Given the description of an element on the screen output the (x, y) to click on. 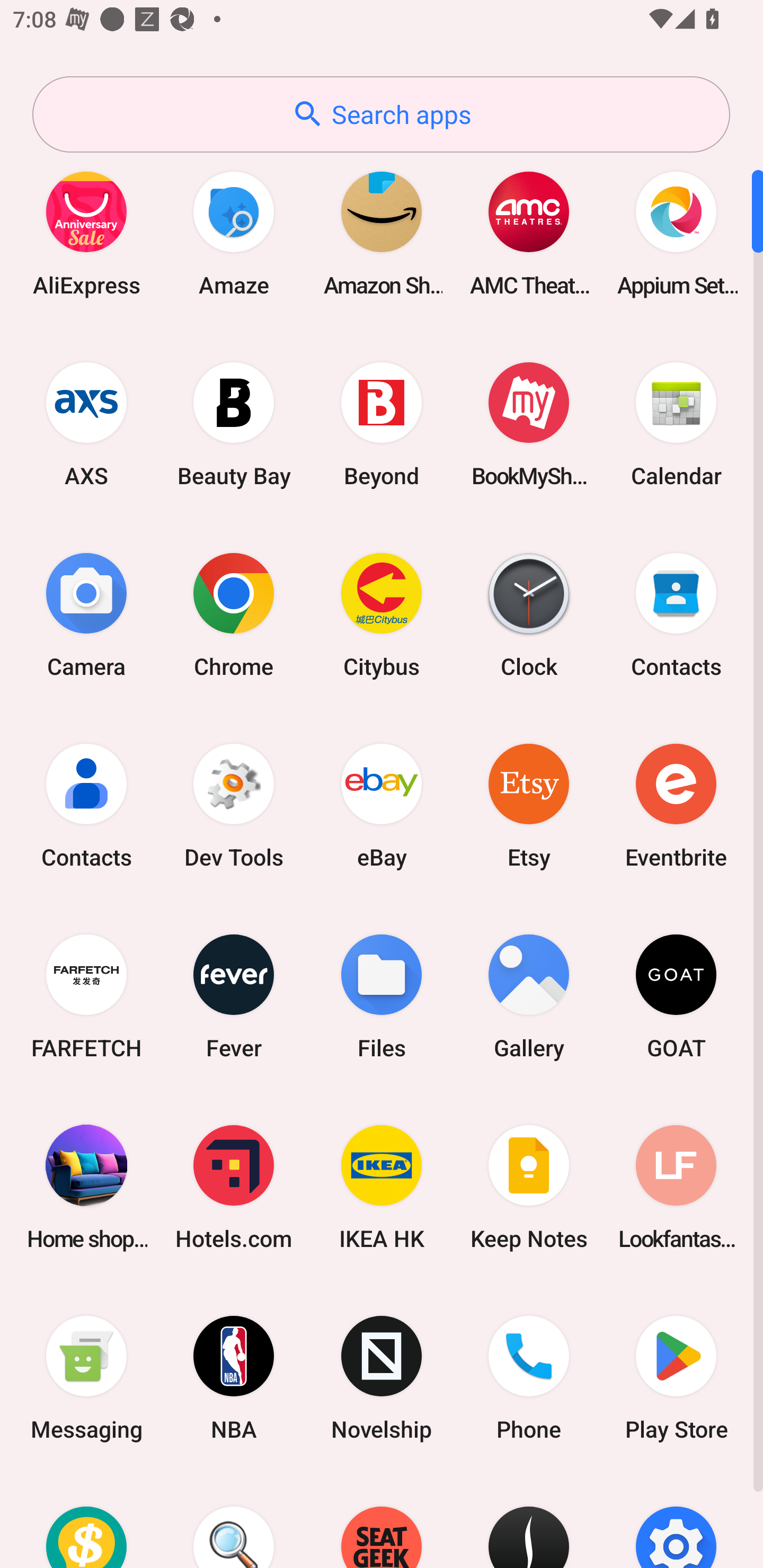
  Search apps (381, 114)
AliExpress (86, 233)
Amaze (233, 233)
Amazon Shopping (381, 233)
AMC Theatres (528, 233)
Appium Settings (676, 233)
AXS (86, 424)
Beauty Bay (233, 424)
Beyond (381, 424)
BookMyShow (528, 424)
Calendar (676, 424)
Camera (86, 614)
Chrome (233, 614)
Citybus (381, 614)
Clock (528, 614)
Contacts (676, 614)
Contacts (86, 805)
Dev Tools (233, 805)
eBay (381, 805)
Etsy (528, 805)
Eventbrite (676, 805)
FARFETCH (86, 996)
Fever (233, 996)
Files (381, 996)
Gallery (528, 996)
GOAT (676, 996)
Home shopping (86, 1186)
Hotels.com (233, 1186)
IKEA HK (381, 1186)
Keep Notes (528, 1186)
Lookfantastic (676, 1186)
Messaging (86, 1377)
NBA (233, 1377)
Novelship (381, 1377)
Phone (528, 1377)
Play Store (676, 1377)
